Given the description of an element on the screen output the (x, y) to click on. 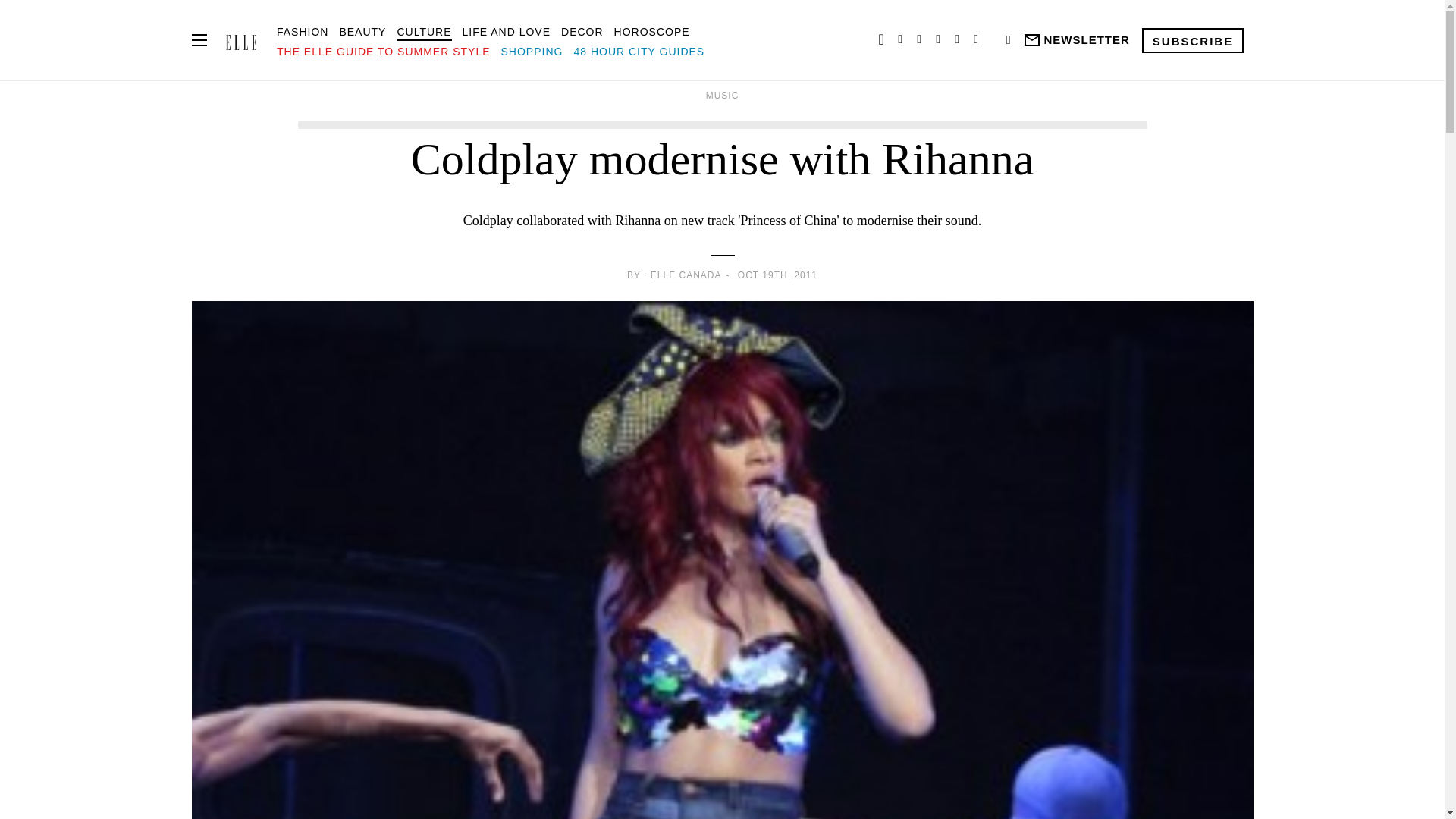
BEAUTY (362, 31)
LIFE AND LOVE (506, 31)
ELLE CANADA (686, 275)
FASHION (302, 31)
NEWSLETTER (1075, 40)
SHOPPING (531, 51)
CULTURE (423, 31)
48 HOUR CITY GUIDES (638, 51)
HOROSCOPE (652, 31)
SUBSCRIBE (1192, 39)
THE ELLE GUIDE TO SUMMER STYLE (383, 51)
DECOR (582, 31)
